Given the description of an element on the screen output the (x, y) to click on. 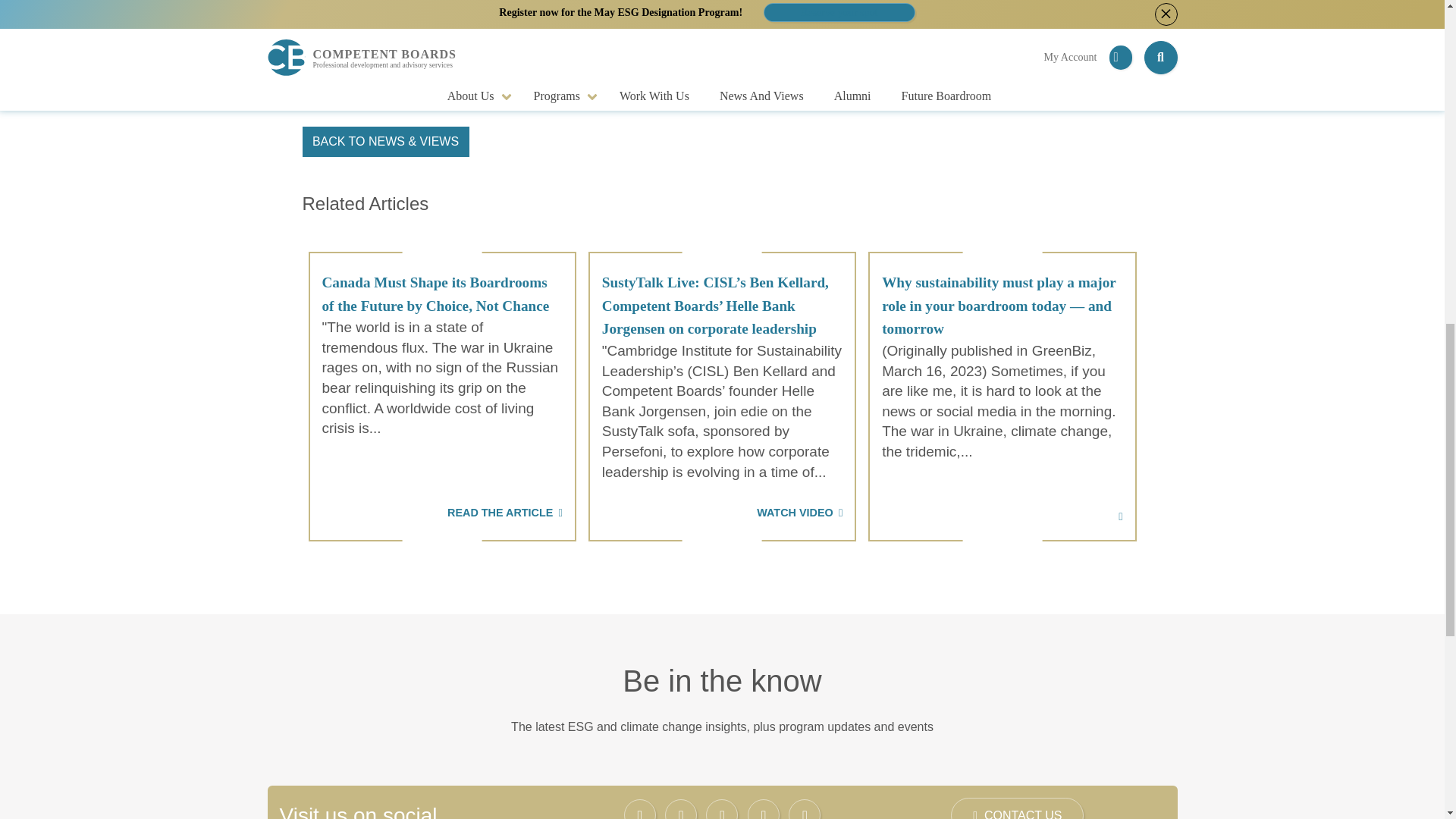
Youtube (805, 809)
Instagram (722, 809)
Twitter (681, 809)
Linkedin (763, 809)
Facebook (640, 809)
WATCH VIDEO (722, 501)
READ THE ARTICLE (441, 501)
